Given the description of an element on the screen output the (x, y) to click on. 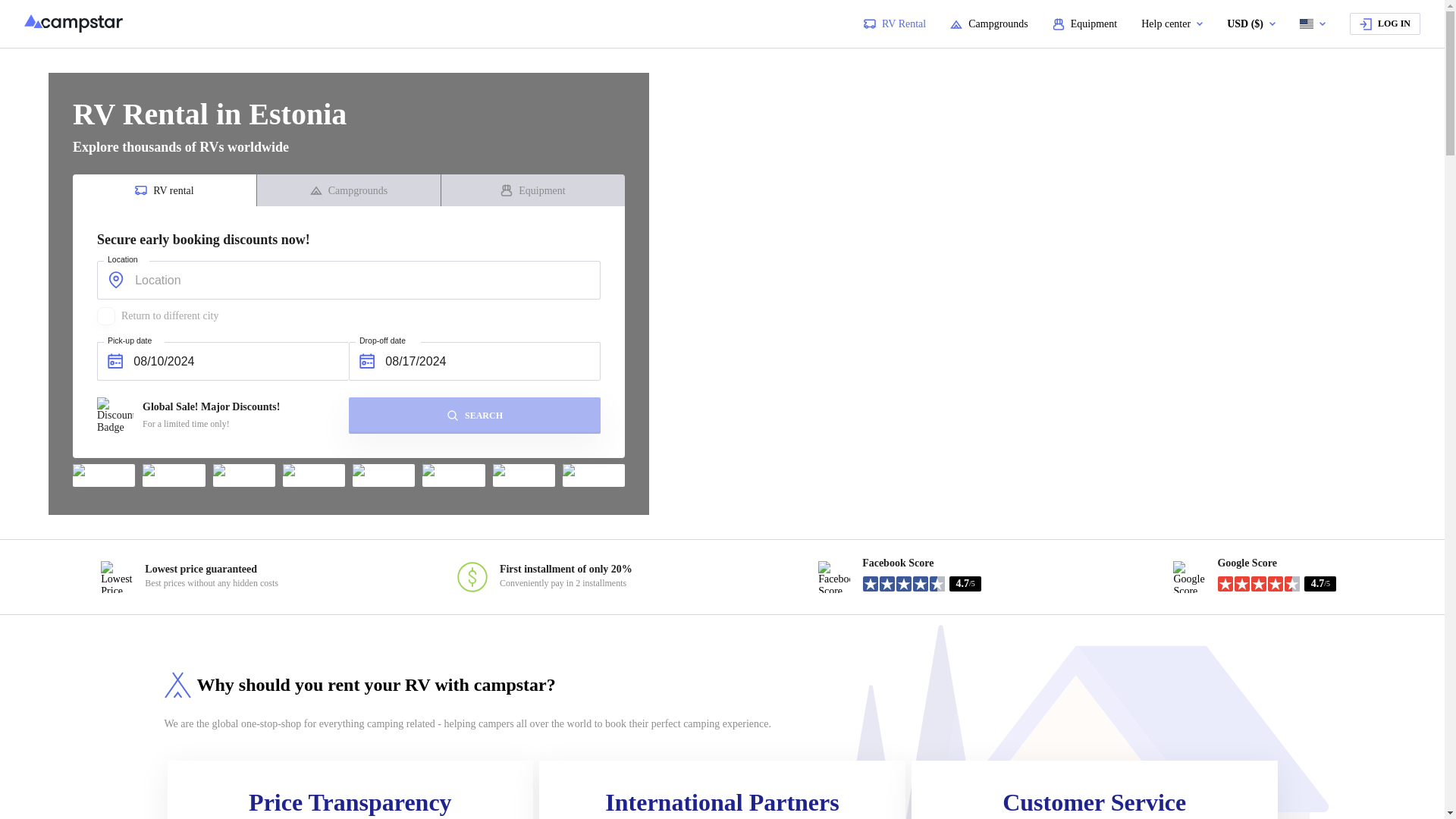
RV rental (164, 190)
Help center (1171, 24)
Campgrounds (349, 190)
Return to a different city not available (157, 316)
Campgrounds (988, 23)
SEARCH (474, 415)
LOG IN (1385, 24)
Equipment (532, 190)
RV Rental (894, 23)
Equipment (1084, 23)
